Given the description of an element on the screen output the (x, y) to click on. 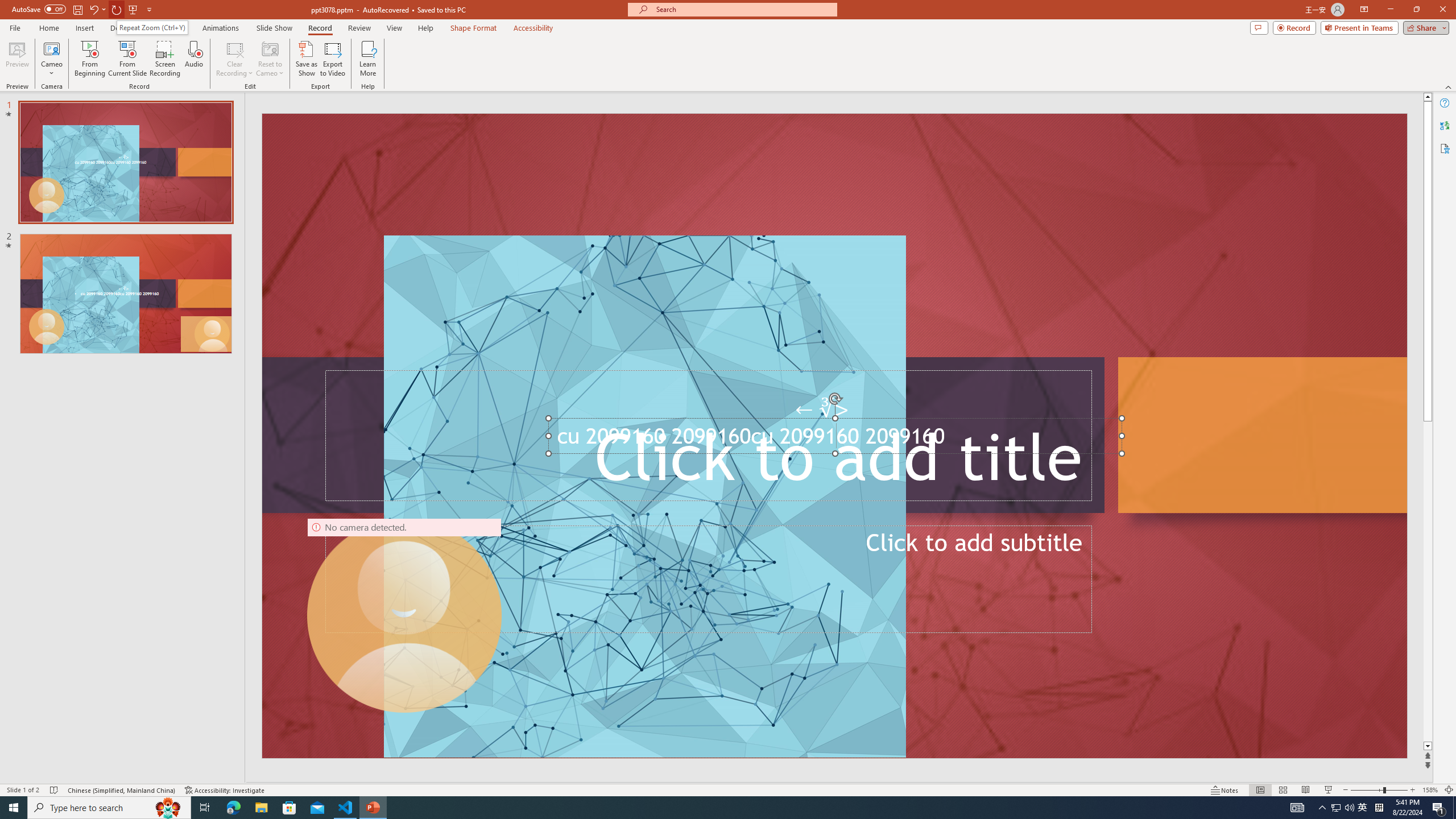
Export to Video (332, 58)
Subtitle TextBox (708, 579)
Reset to Cameo (269, 58)
